Given the description of an element on the screen output the (x, y) to click on. 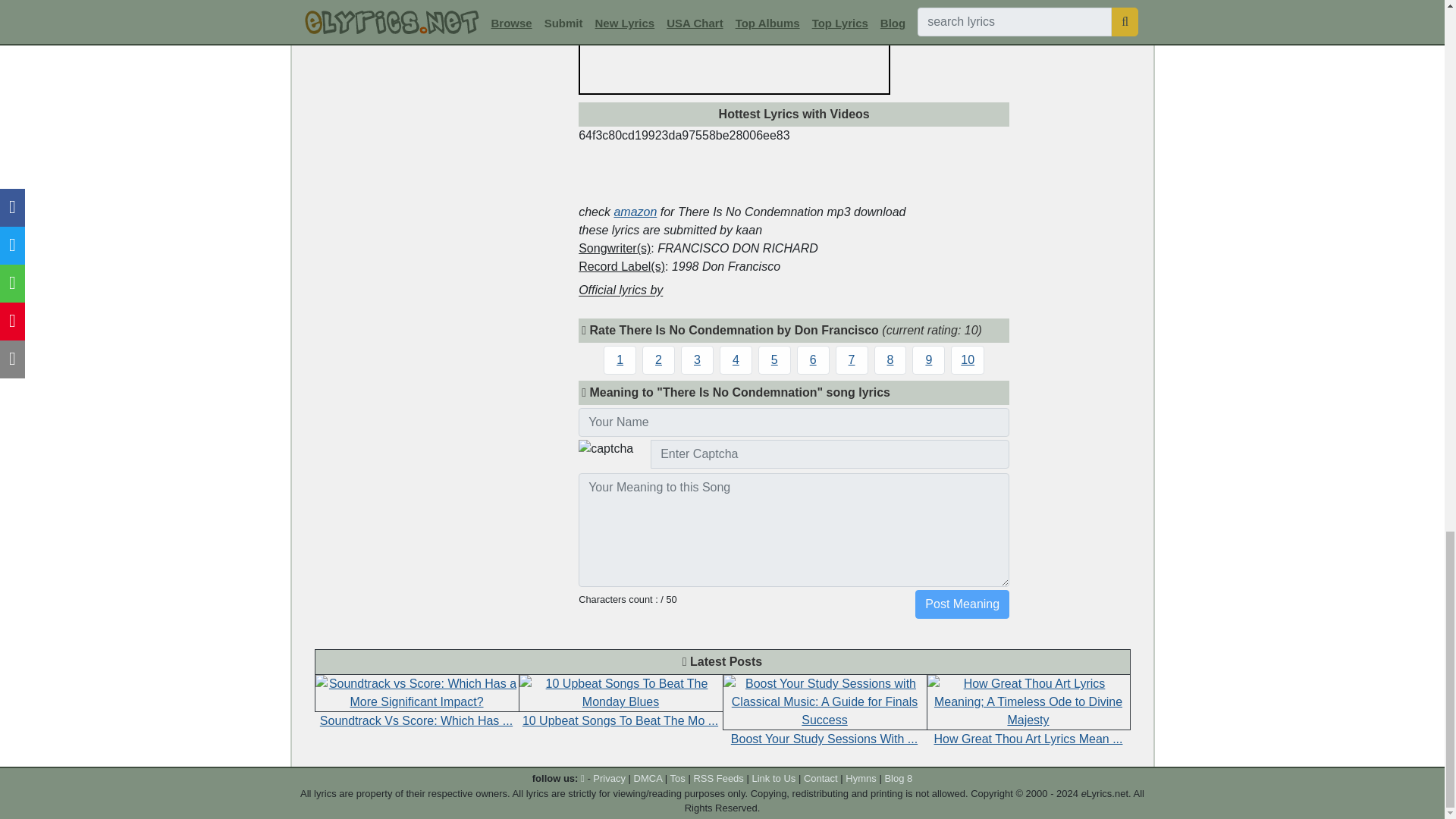
amazon (634, 211)
10 Upbeat Songs To Beat The Monday Blues (620, 692)
Post Meaning (962, 604)
6 (812, 359)
9 (928, 359)
1 (620, 359)
7 (851, 359)
Soundtrack vs Score: Which Has a More Significant Impact? (416, 692)
musixmatch (731, 291)
8 (891, 359)
3 (697, 359)
4 (735, 359)
5 (774, 359)
2 (658, 359)
